Given the description of an element on the screen output the (x, y) to click on. 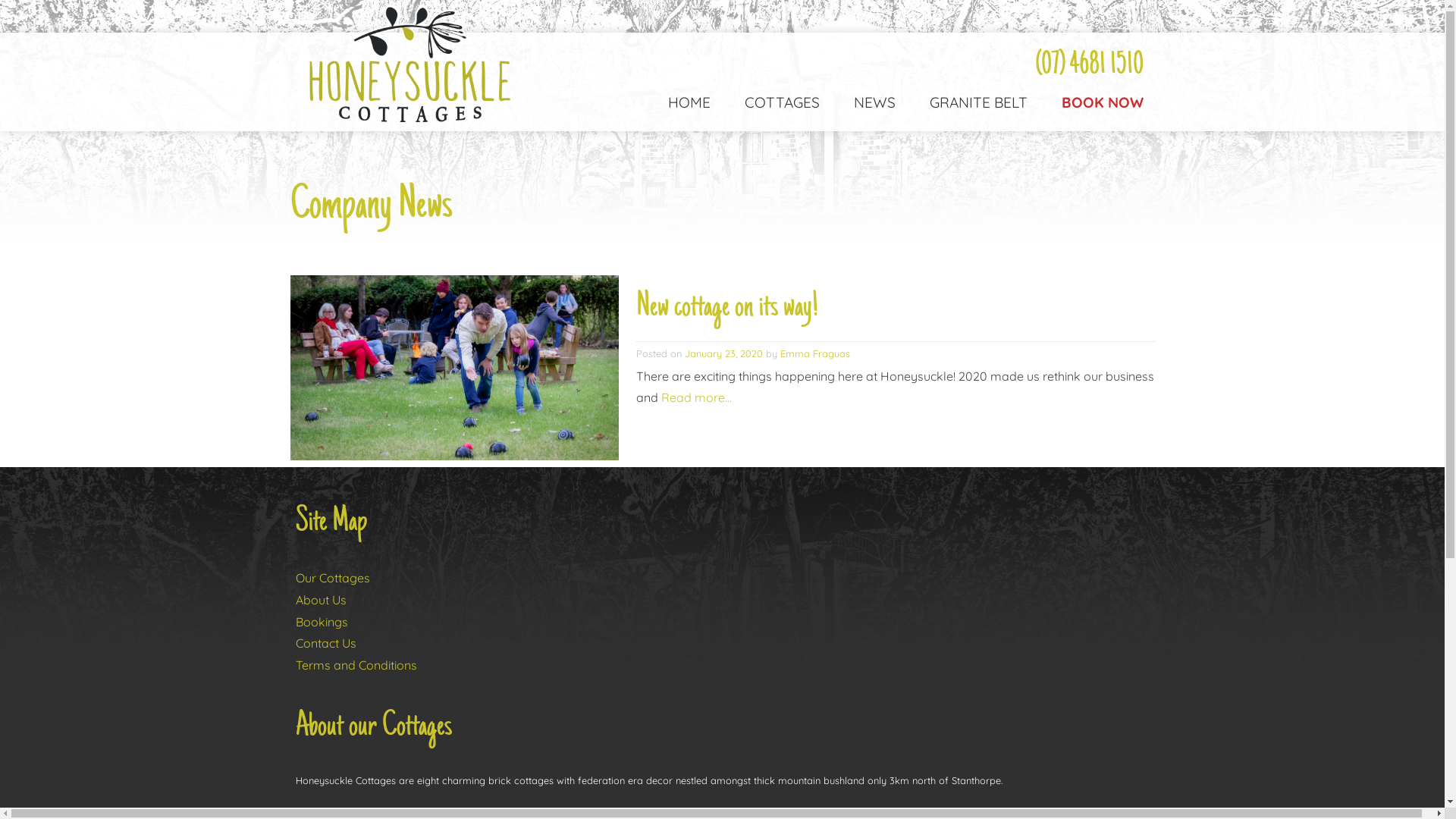
New cottage on its way! Element type: text (726, 307)
Contact Us Element type: text (325, 642)
STUDIO SPA COTTAGE Element type: text (858, 244)
TWO BEDROOM COTTAGE Element type: text (858, 244)
January 23, 2020 Element type: text (723, 353)
Our Cottages Element type: text (332, 577)
NEWS Element type: text (868, 114)
BOOK NOW Element type: text (1096, 114)
Terms and Conditions Element type: text (356, 664)
Emma Fraguas Element type: text (814, 353)
About Us Element type: text (320, 599)
Bookings Element type: text (321, 621)
(07) 4681 1510 Element type: text (1078, 66)
HOME Element type: text (682, 114)
COTTAGES Element type: text (776, 114)
GRANITE BELT Element type: text (972, 114)
